Given the description of an element on the screen output the (x, y) to click on. 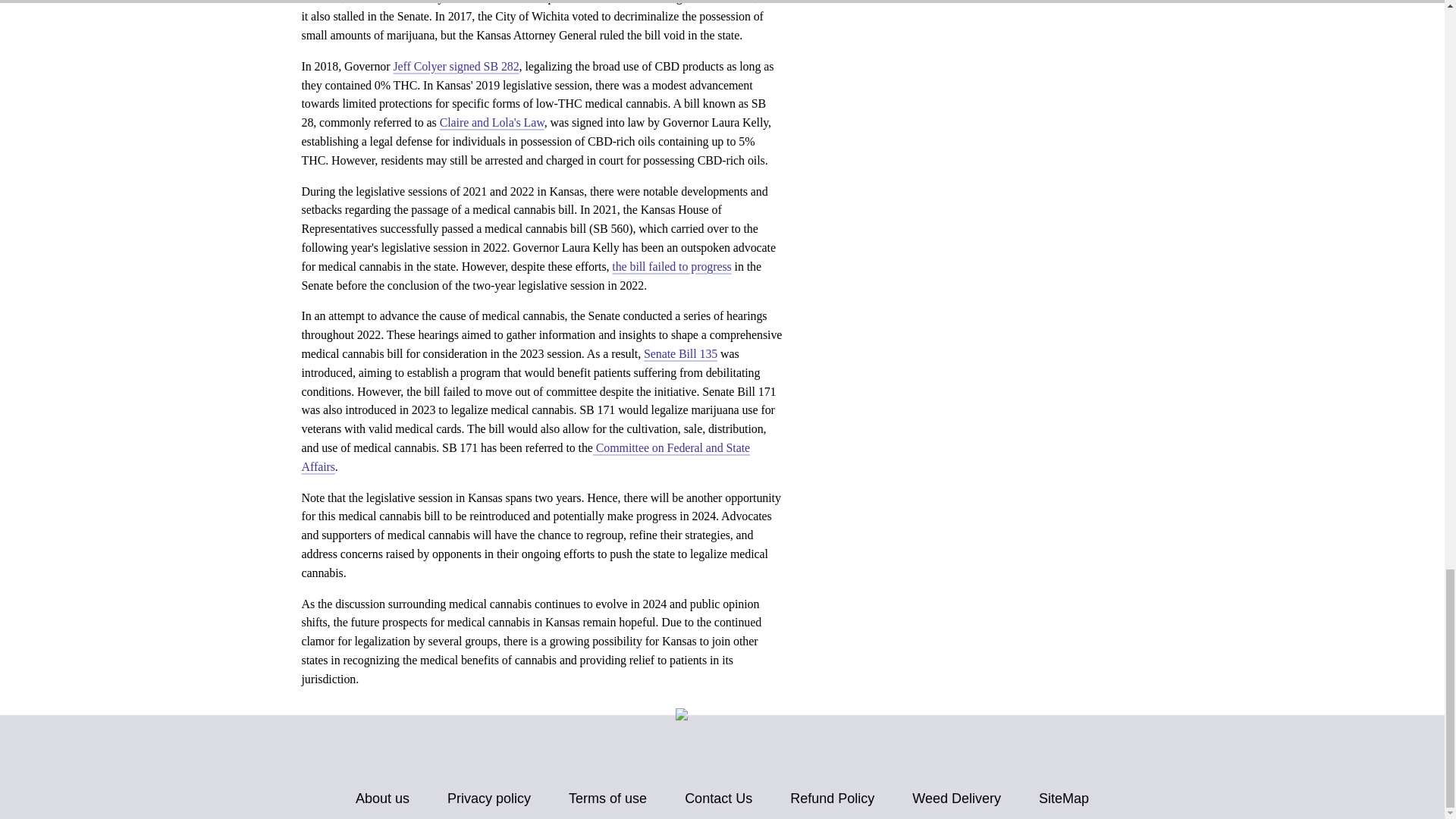
Terms of use (607, 798)
About us (382, 798)
Senate Bill 135 (680, 353)
Claire and Lola's Law (491, 122)
Refund Policy (832, 798)
Weed Delivery (956, 798)
Jeff Colyer signed SB 282 (455, 65)
Privacy policy (488, 798)
the bill failed to progress (670, 266)
Contact Us (718, 798)
Committee on Federal and State Affairs (526, 457)
SiteMap (1064, 798)
